Given the description of an element on the screen output the (x, y) to click on. 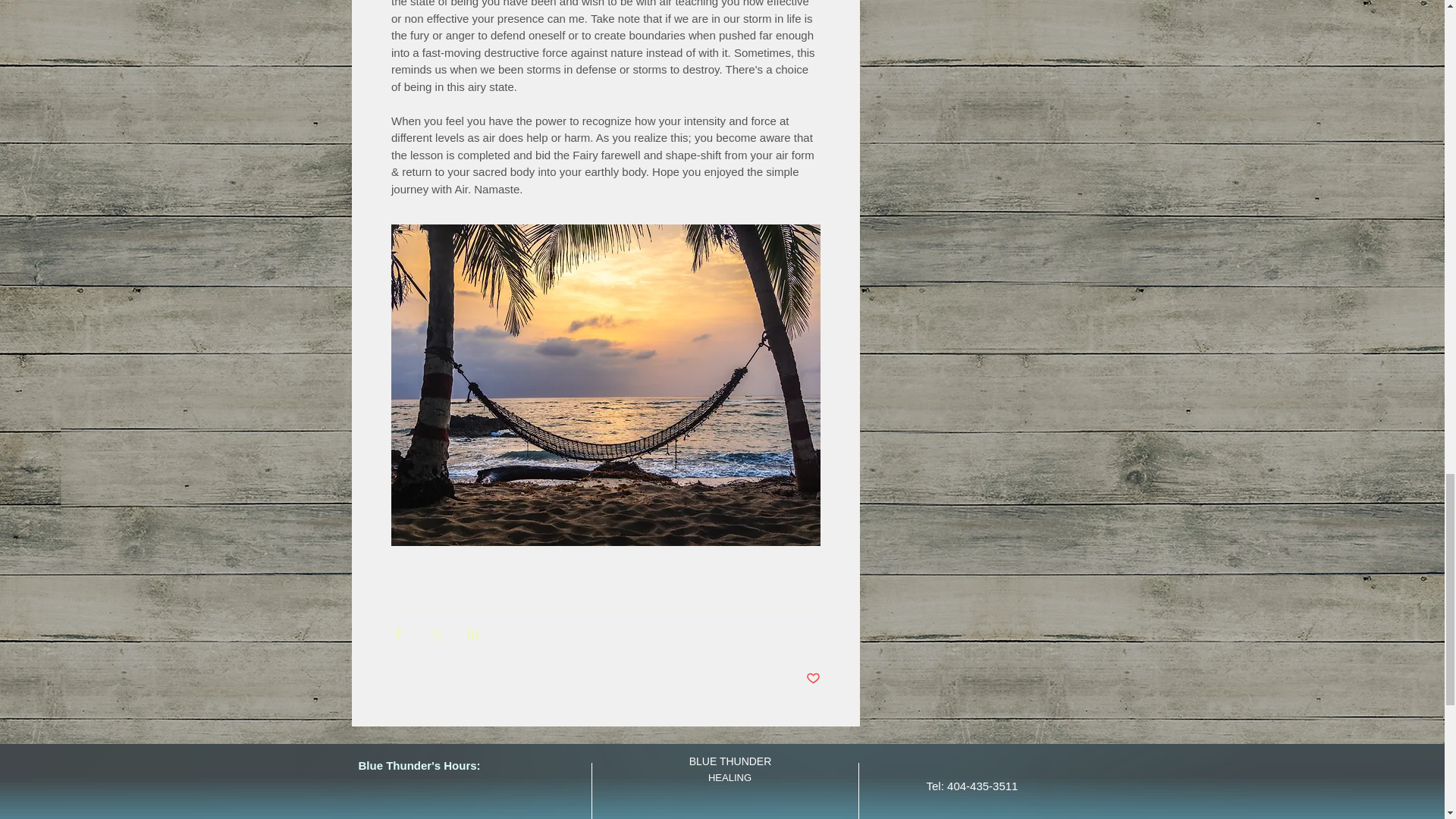
Post not marked as liked (812, 678)
